Given the description of an element on the screen output the (x, y) to click on. 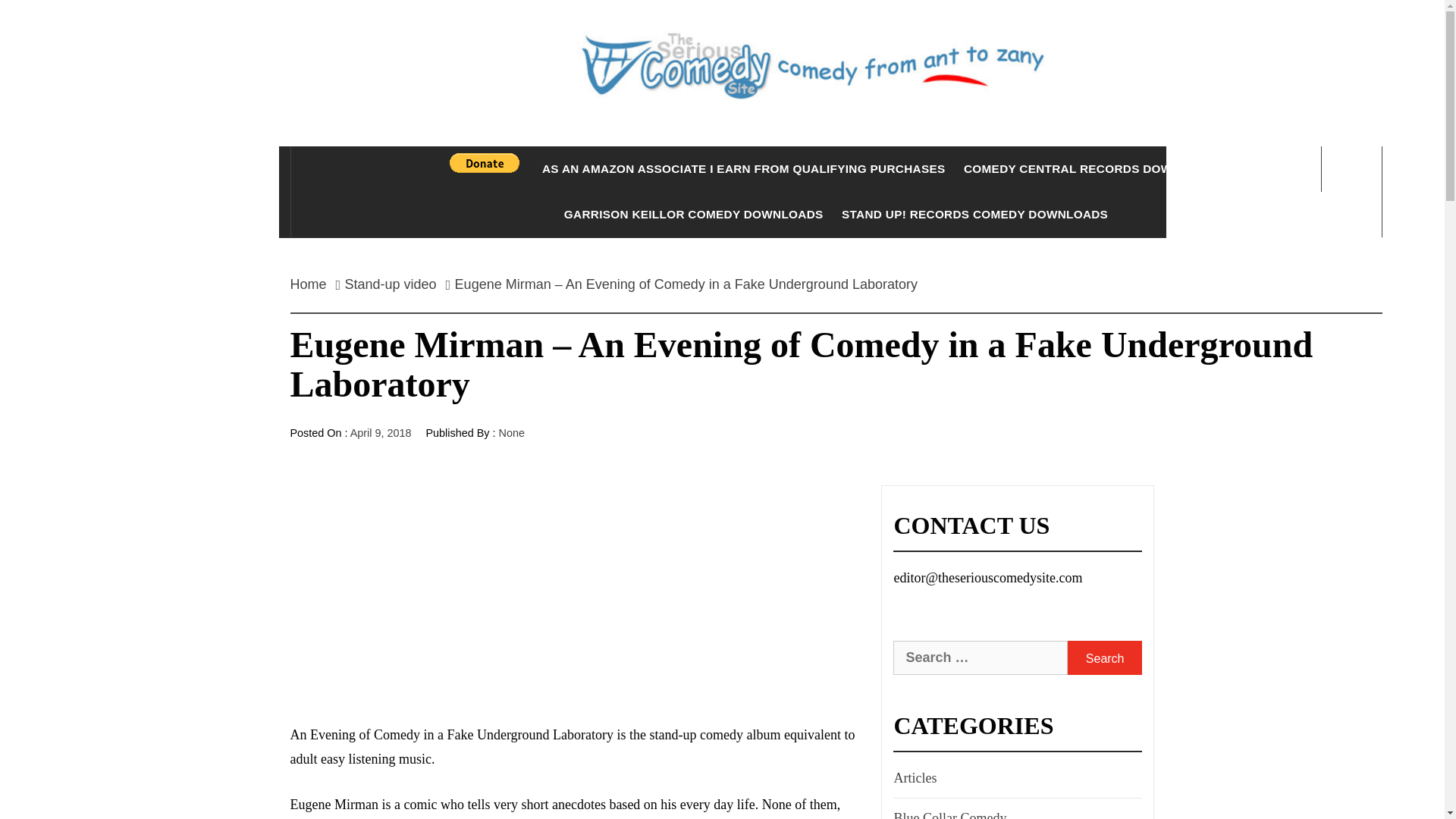
Home (311, 283)
COMEDY CENTRAL RECORDS DOWNLOADS (1093, 168)
Search (797, 37)
Search (1104, 657)
None (511, 432)
PayPal - The safer, easier way to pay online! (484, 162)
AS AN AMAZON ASSOCIATE I EARN FROM QUALIFYING PURCHASES (743, 168)
Search (1104, 657)
Search (1104, 657)
GARRISON KEILLOR COMEDY DOWNLOADS (693, 214)
